Given the description of an element on the screen output the (x, y) to click on. 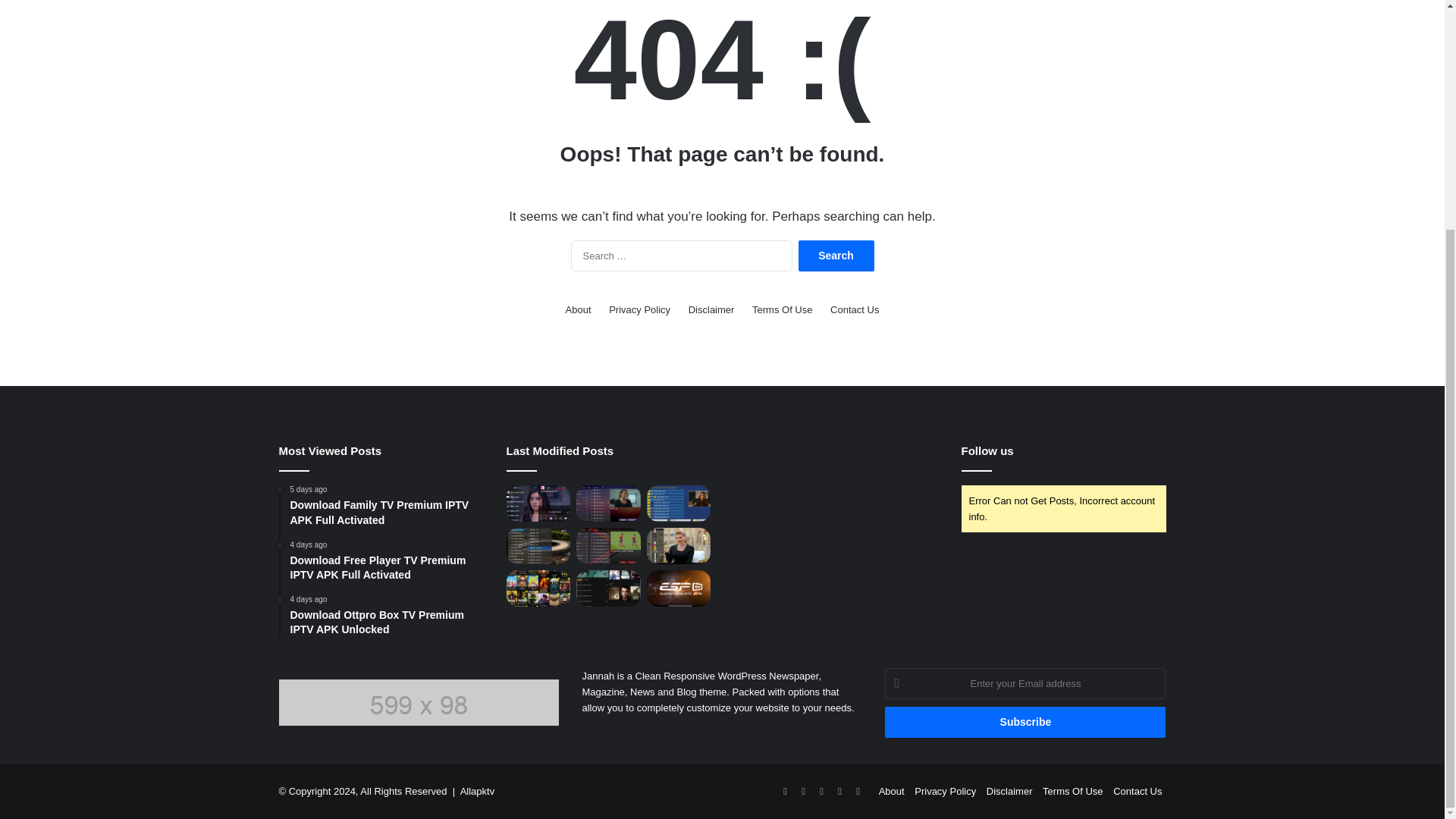
Search (835, 255)
Search (835, 255)
Disclaimer (711, 309)
Terms Of Use (386, 616)
Search (782, 309)
Privacy Policy (835, 255)
Contact Us (638, 309)
Subscribe (854, 309)
About (1025, 721)
